Given the description of an element on the screen output the (x, y) to click on. 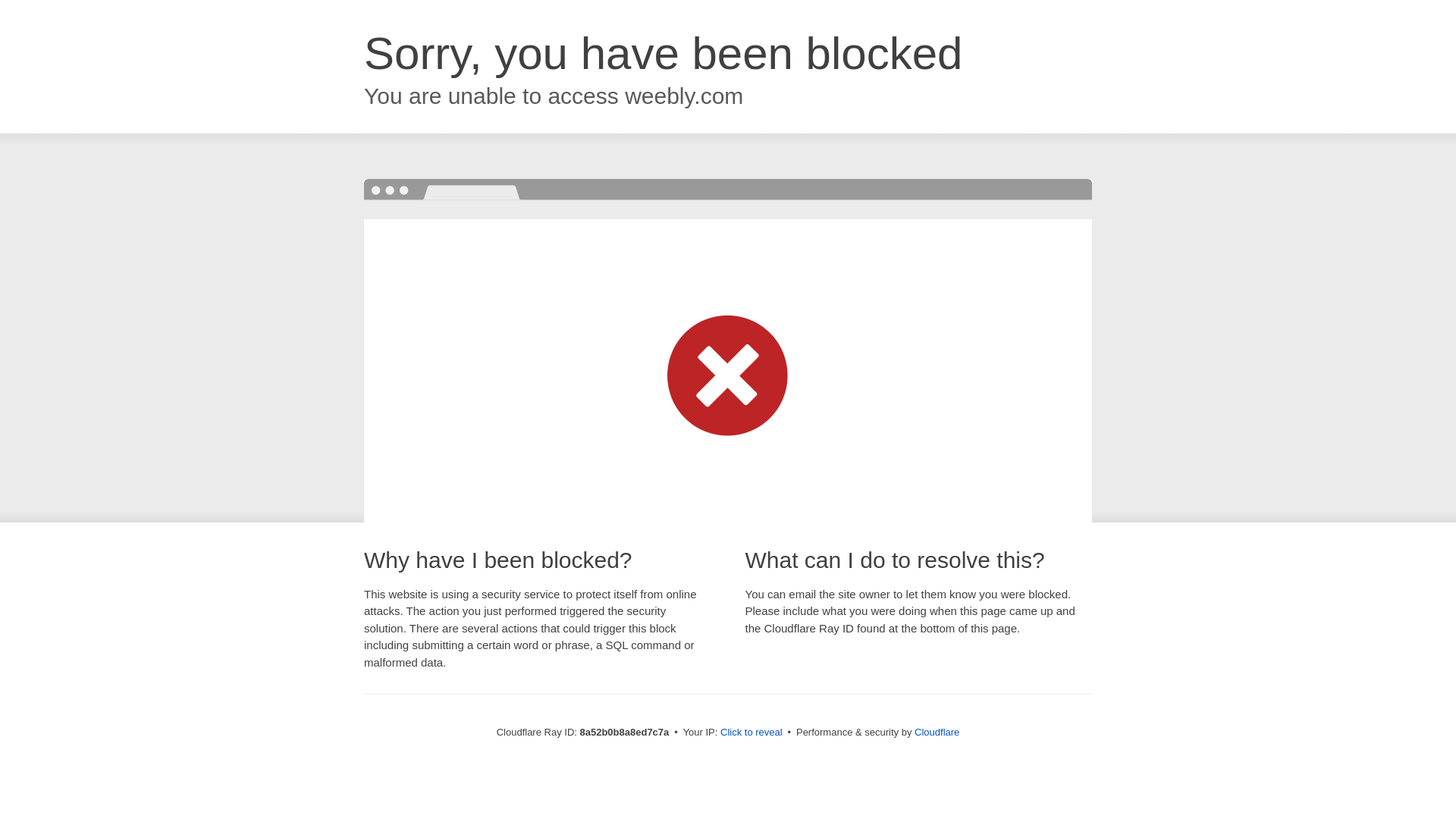
Click to reveal (751, 732)
Cloudflare (936, 731)
